Given the description of an element on the screen output the (x, y) to click on. 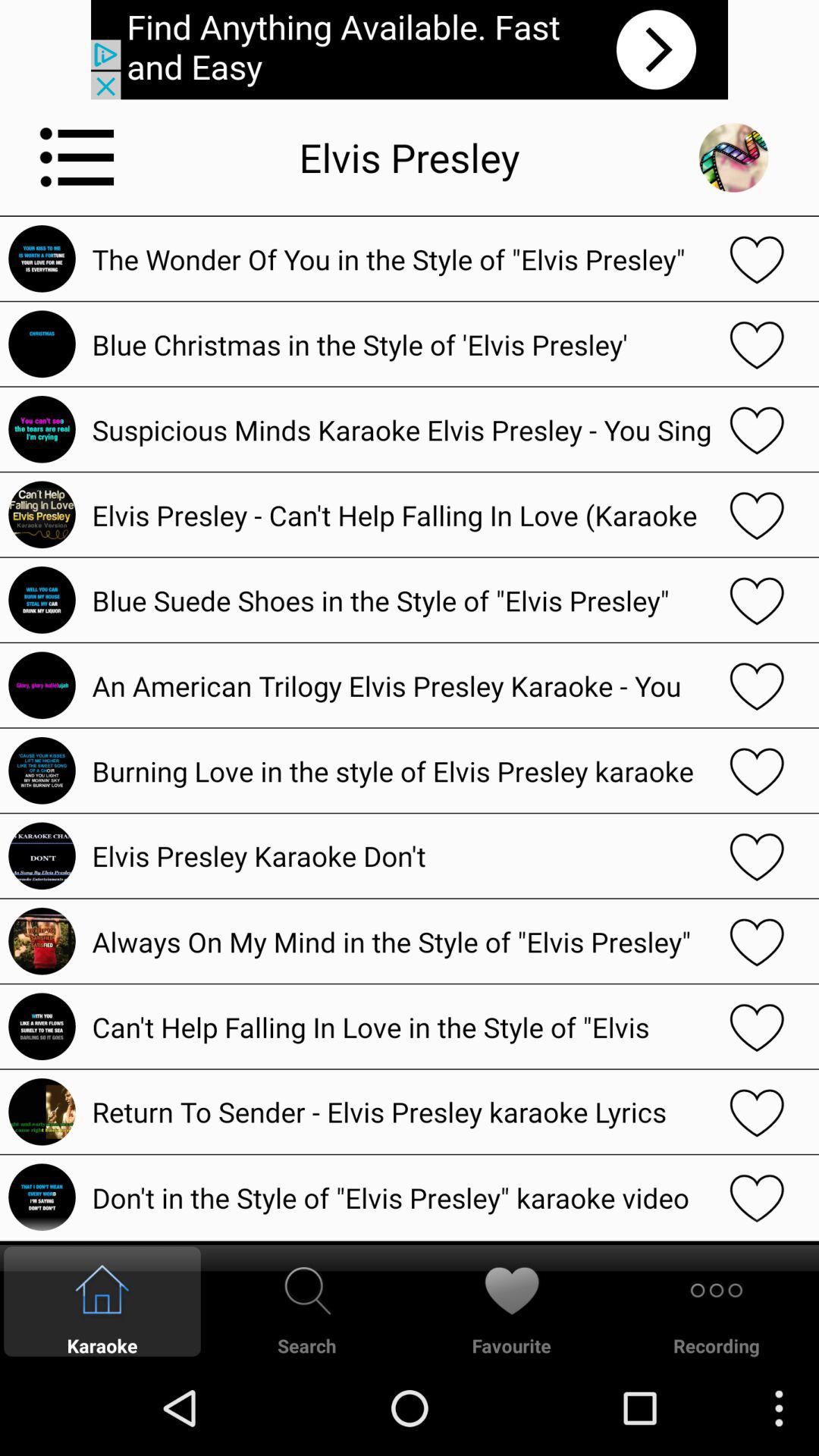
favorite song (756, 685)
